Given the description of an element on the screen output the (x, y) to click on. 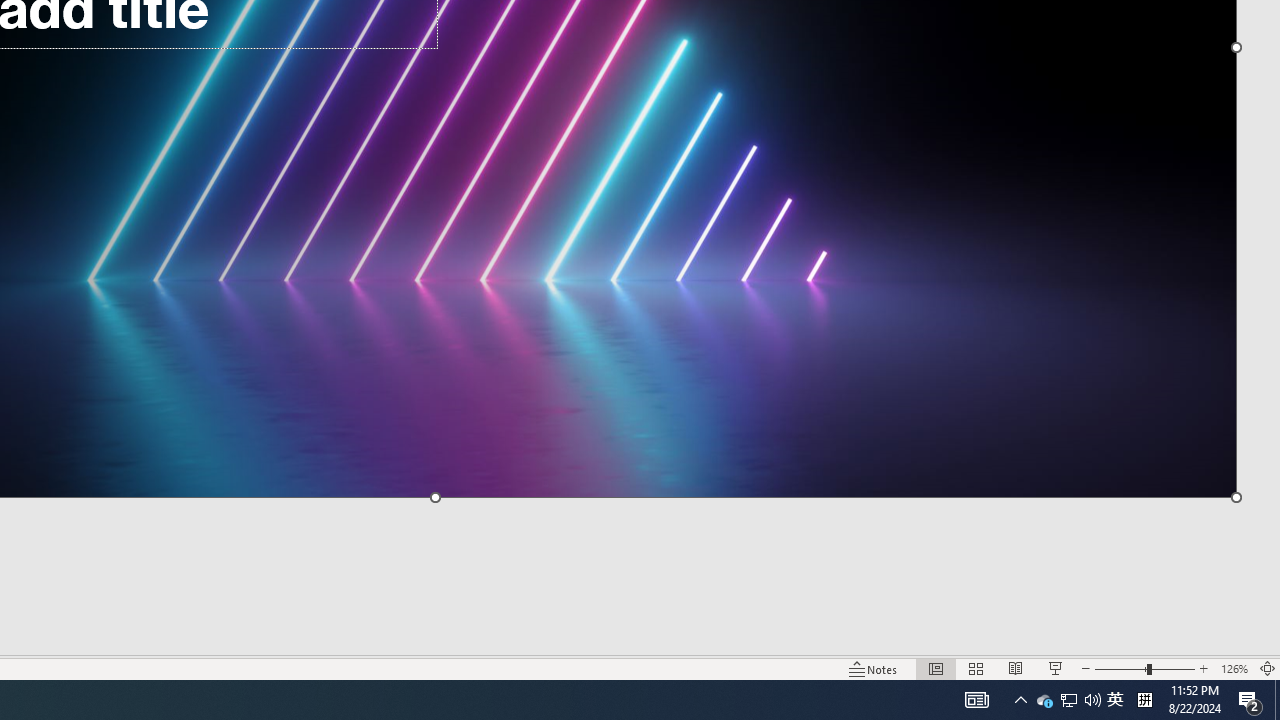
Zoom 126% (1234, 668)
